Given the description of an element on the screen output the (x, y) to click on. 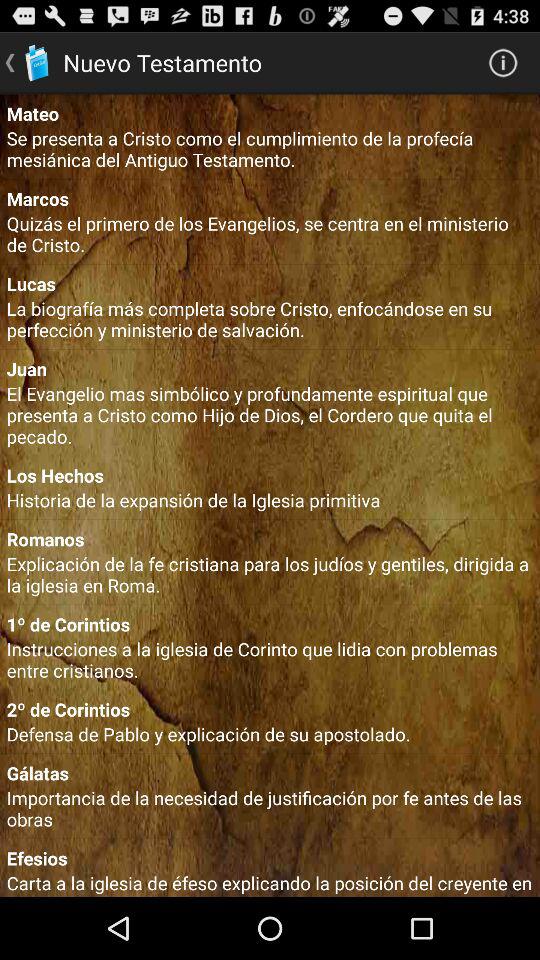
click importancia de la (269, 808)
